Given the description of an element on the screen output the (x, y) to click on. 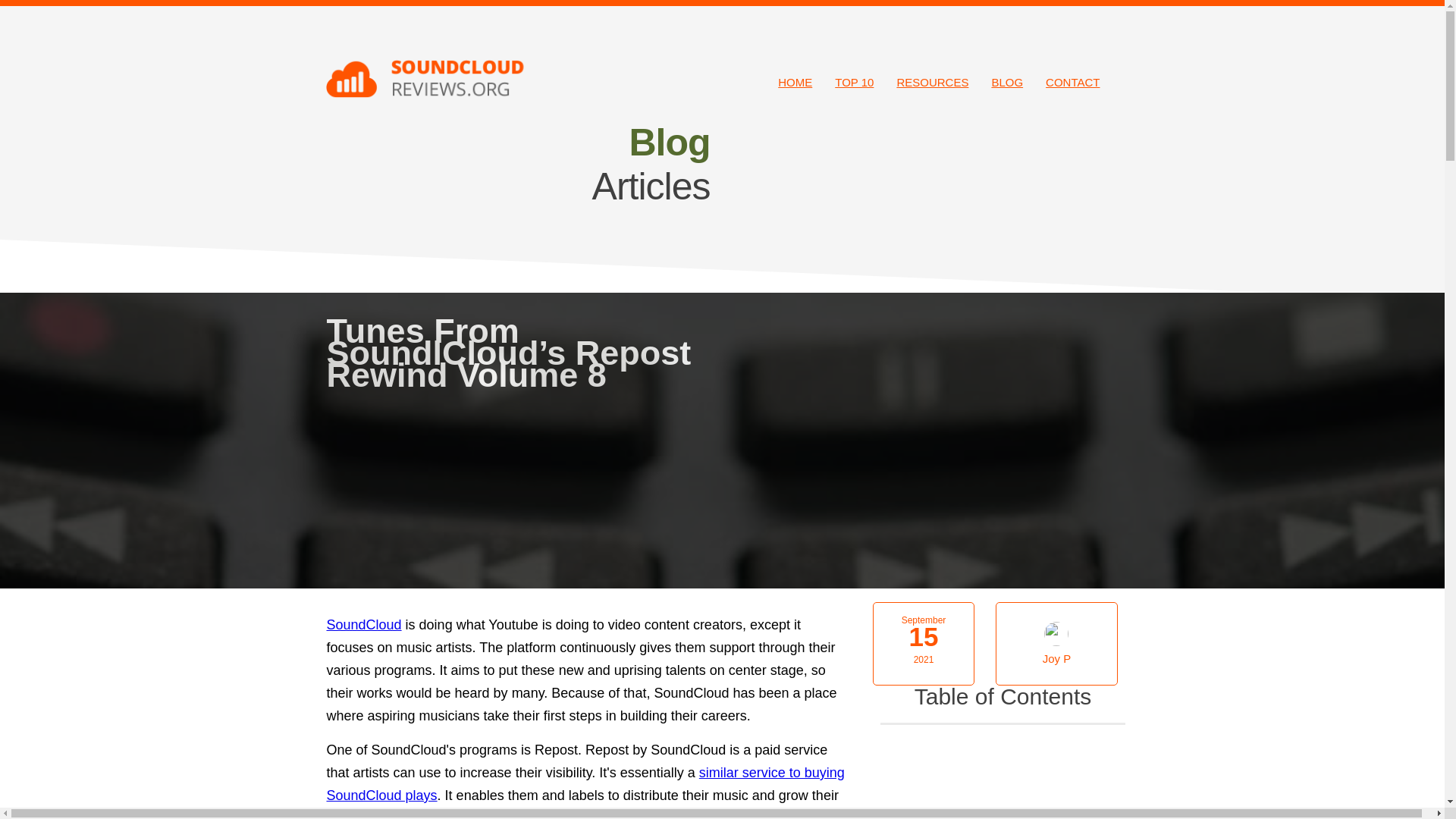
BLOG (1007, 81)
RESOURCES (931, 81)
CONTACT (1072, 81)
TOP 10 (853, 81)
SoundCloud (363, 624)
similar service to buying SoundCloud plays (585, 783)
HOME (794, 81)
